Given the description of an element on the screen output the (x, y) to click on. 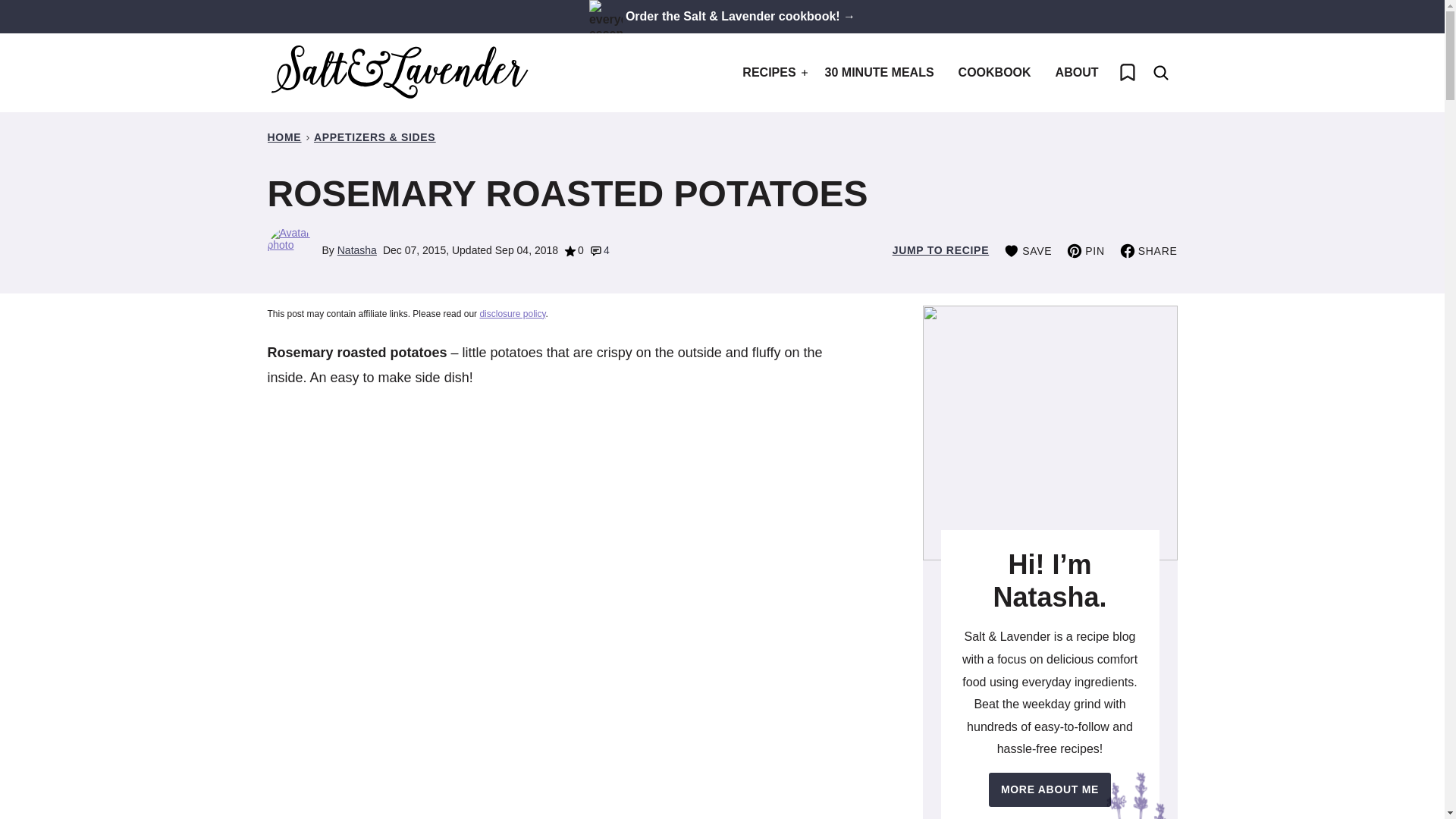
Share on Pinterest (1085, 250)
PIN (1085, 250)
4 (599, 250)
My Favorites (1125, 72)
Natasha (357, 250)
30 MINUTE MEALS (879, 72)
SAVE (1027, 250)
RECIPES (771, 72)
Share on Facebook (1148, 250)
SHARE (1148, 250)
